Given the description of an element on the screen output the (x, y) to click on. 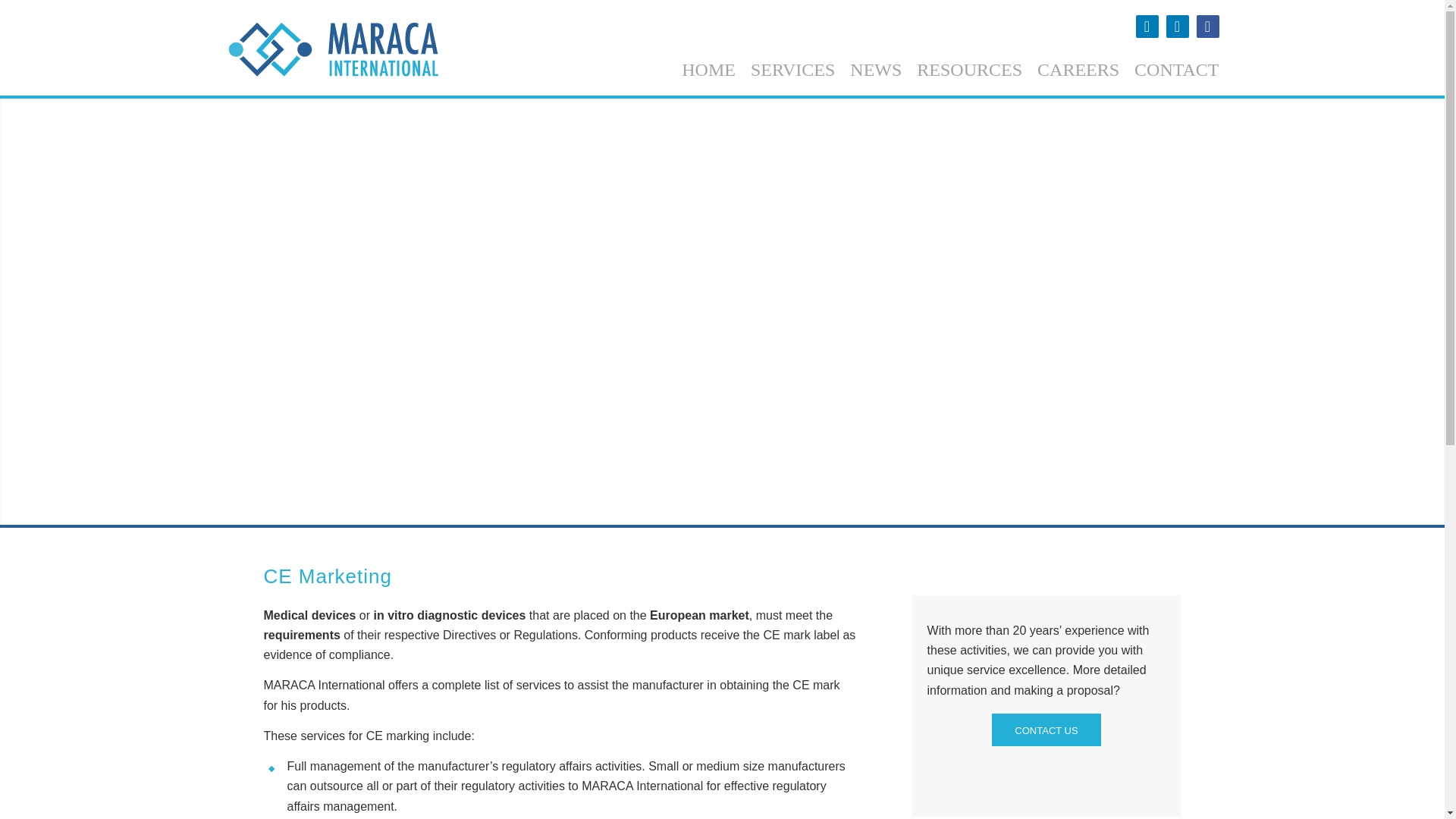
Linkedin (1146, 26)
RESOURCES (969, 69)
CONTACT (1176, 69)
HOME (708, 69)
CAREERS (1077, 69)
Linkedin (1177, 26)
CONTACT US (1045, 729)
NEWS (875, 69)
SERVICES (792, 69)
Facebook (1208, 26)
